Given the description of an element on the screen output the (x, y) to click on. 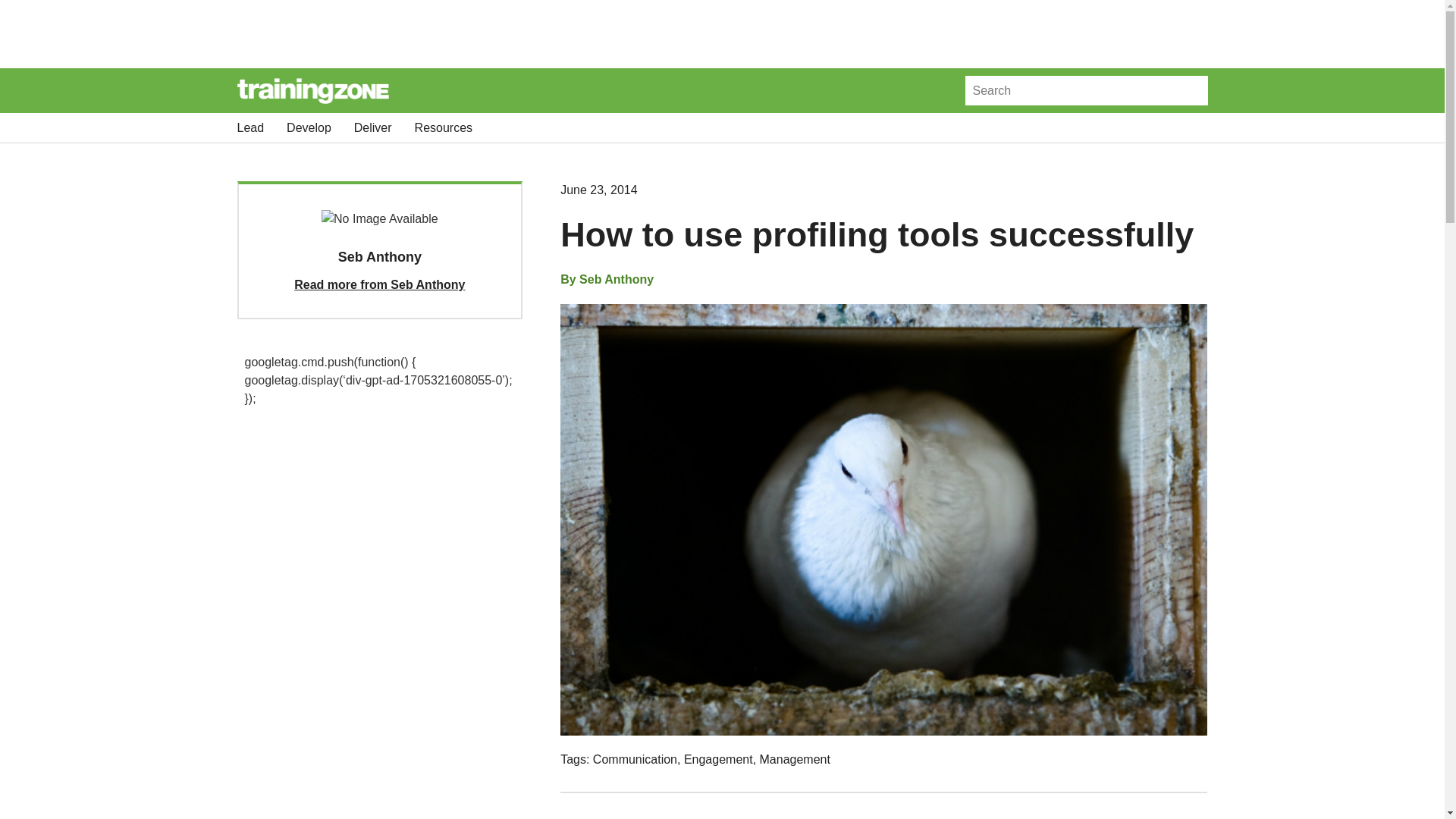
Resources (442, 127)
Deliver (372, 127)
By Seb Anthony (606, 280)
Engagement (718, 758)
Read more from Seb Anthony (379, 284)
Develop (308, 127)
Communication (634, 758)
Lead (249, 127)
